Given the description of an element on the screen output the (x, y) to click on. 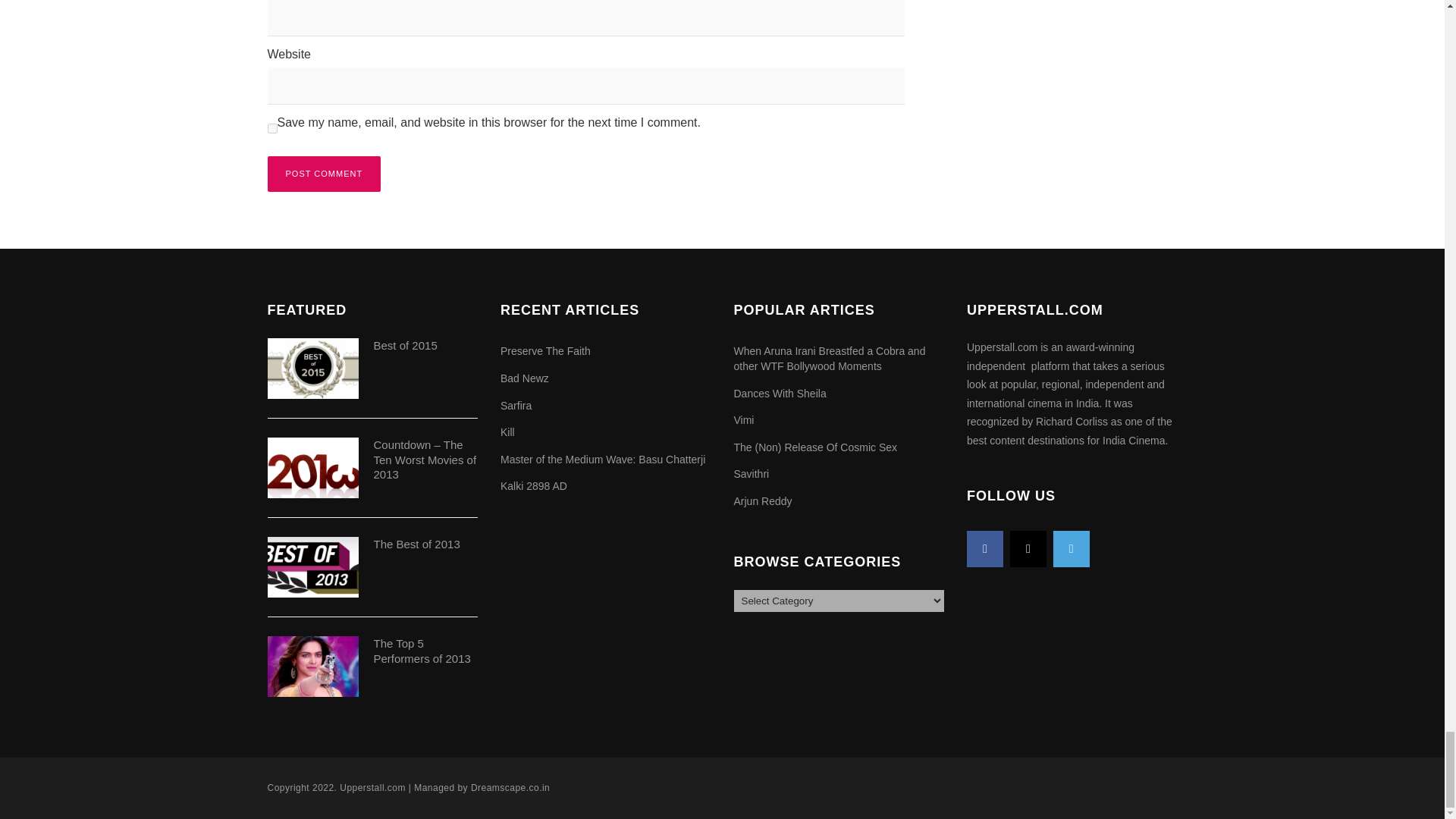
Post Comment (323, 173)
yes (271, 128)
